Given the description of an element on the screen output the (x, y) to click on. 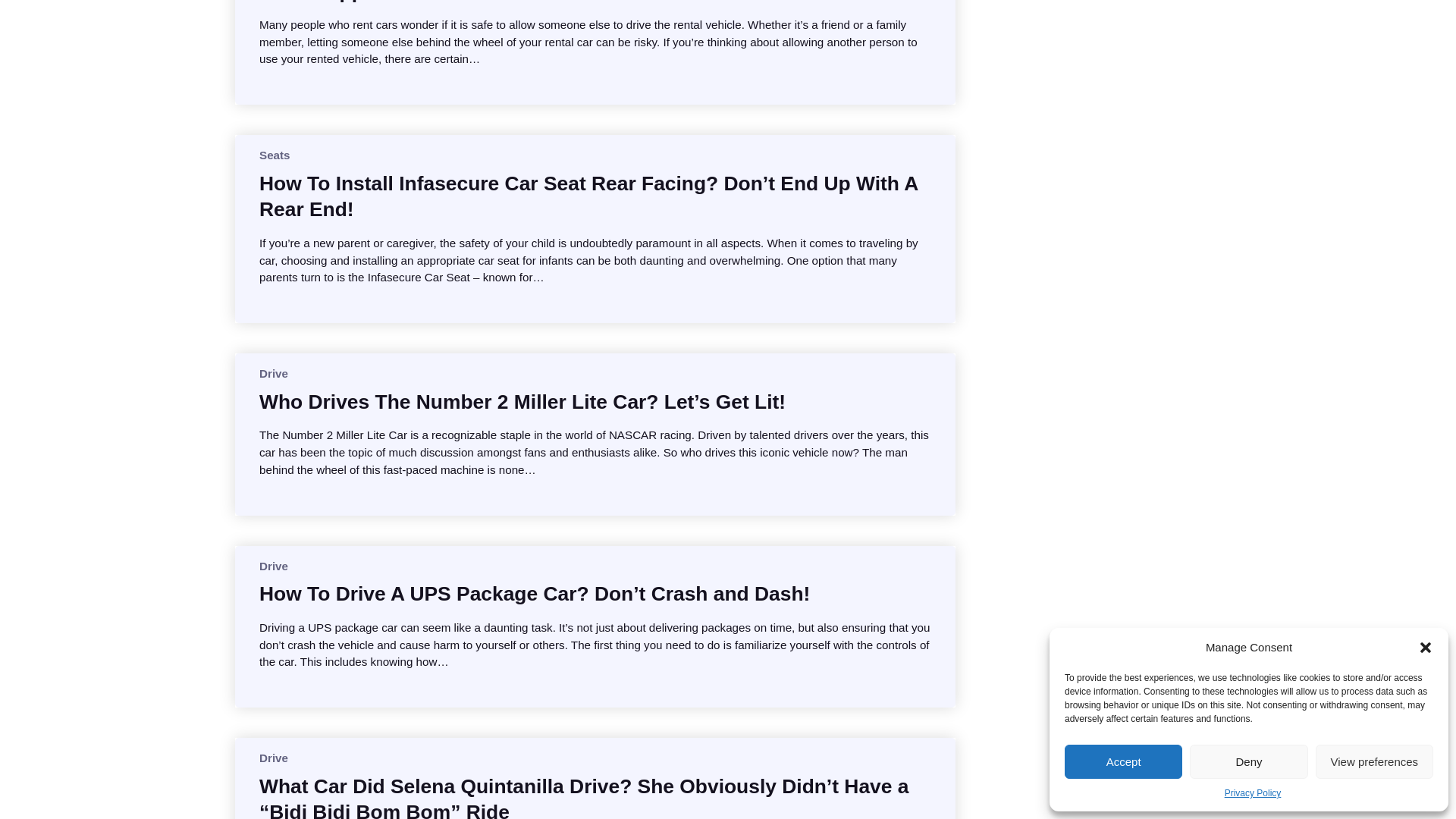
Seats (274, 154)
Drive (273, 565)
Drive (273, 757)
Drive (273, 373)
